Given the description of an element on the screen output the (x, y) to click on. 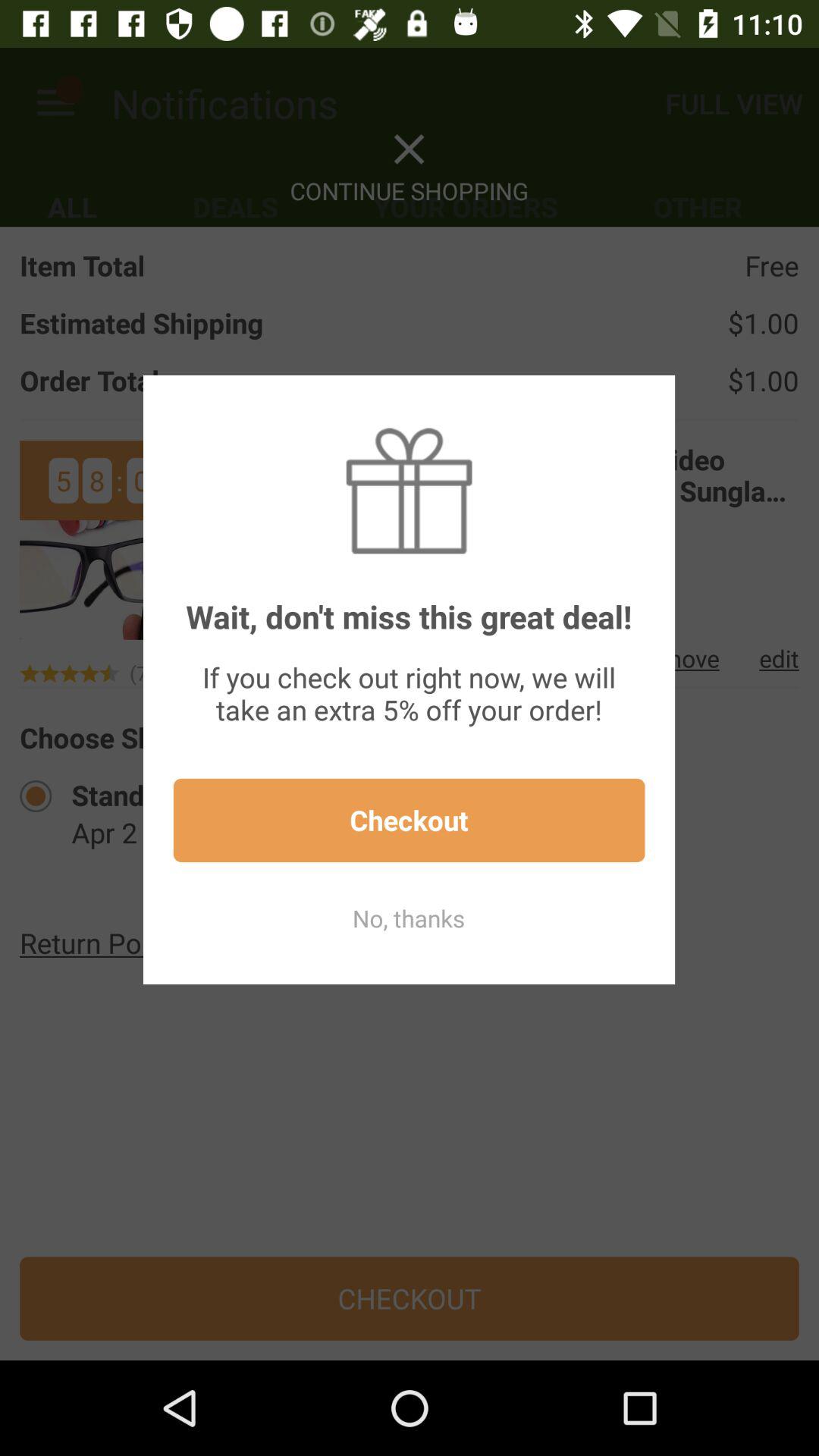
click the item below the if you check (408, 820)
